Given the description of an element on the screen output the (x, y) to click on. 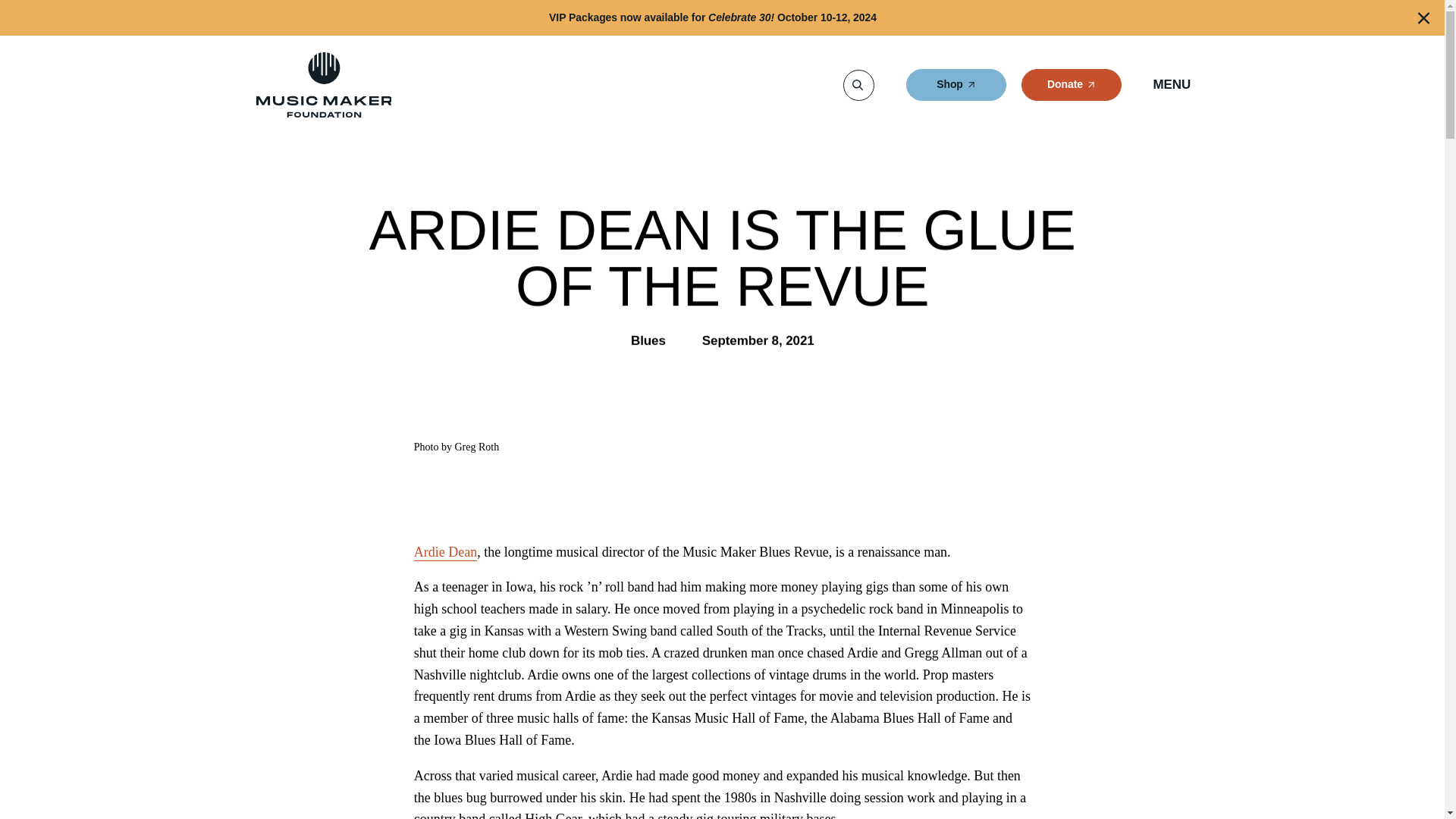
Ardie Dean (955, 84)
